Given the description of an element on the screen output the (x, y) to click on. 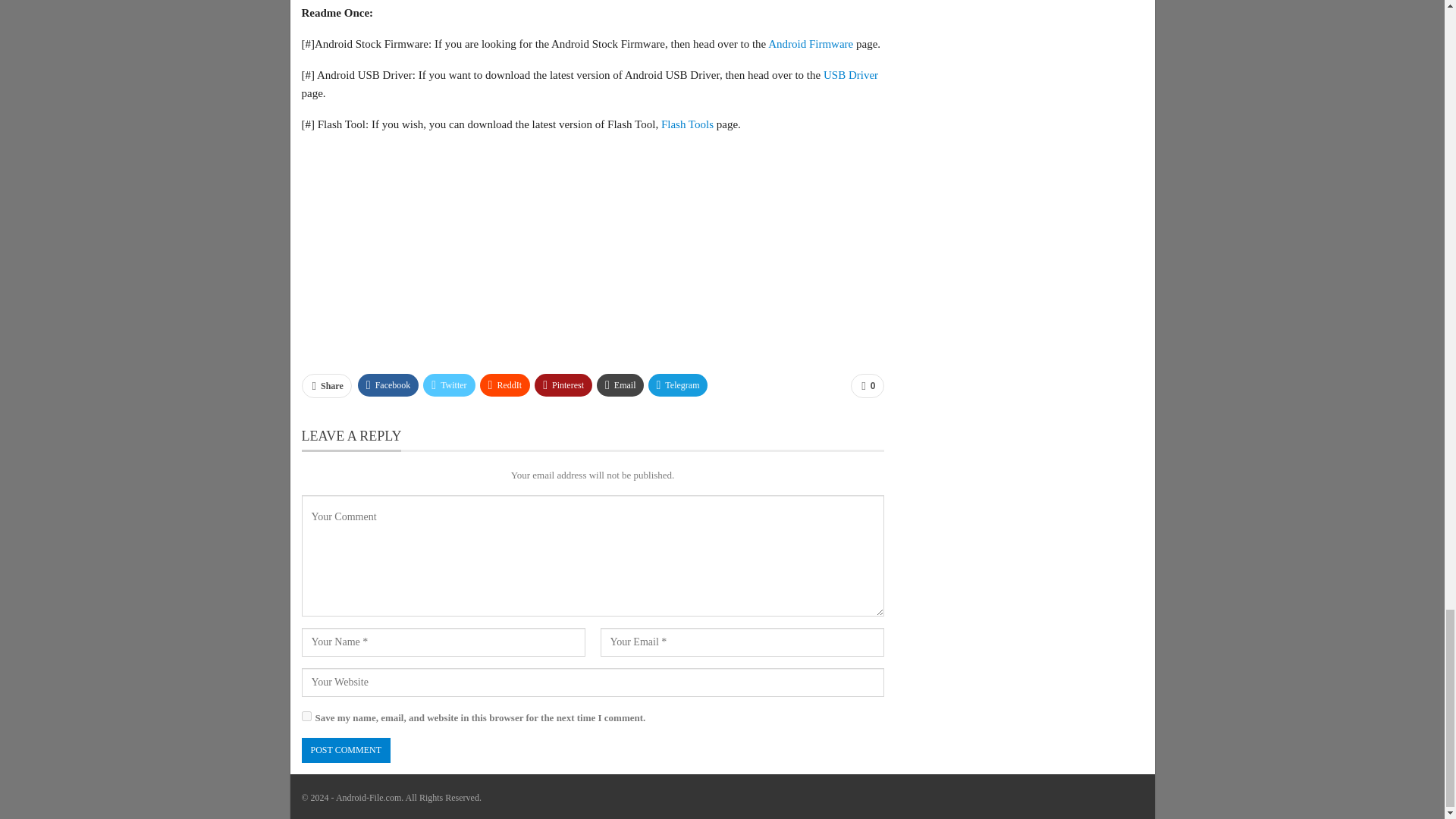
ReddIt (505, 384)
Flash Tools (687, 123)
Pinterest (563, 384)
Post Comment (345, 749)
Telegram (677, 384)
Twitter (448, 384)
Email (620, 384)
USB Driver (850, 74)
0 (866, 385)
Post Comment (345, 749)
Advertisement (592, 252)
yes (306, 716)
Facebook (388, 384)
Android Firmware (810, 43)
